Given the description of an element on the screen output the (x, y) to click on. 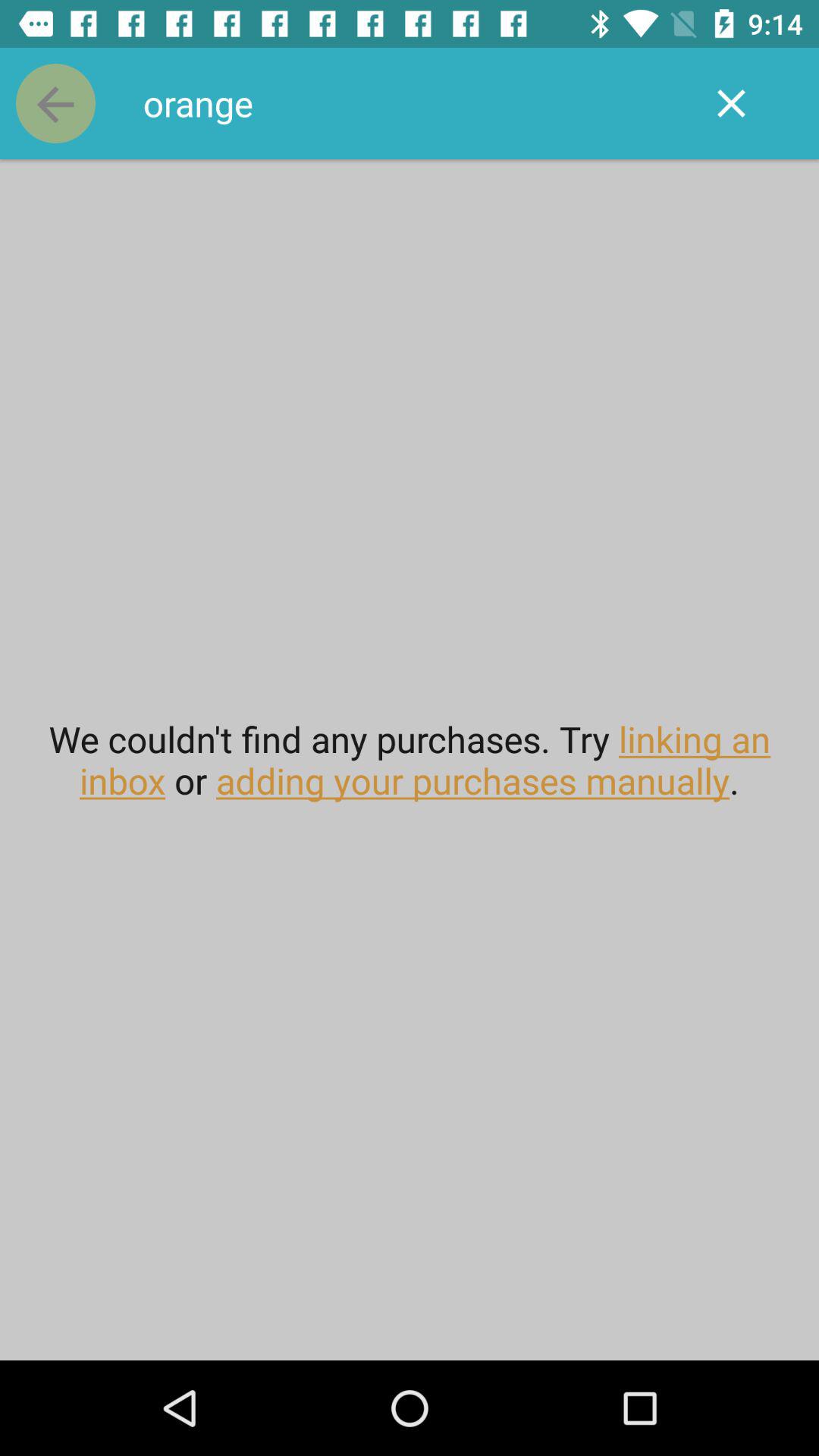
flip to the orange item (409, 103)
